Given the description of an element on the screen output the (x, y) to click on. 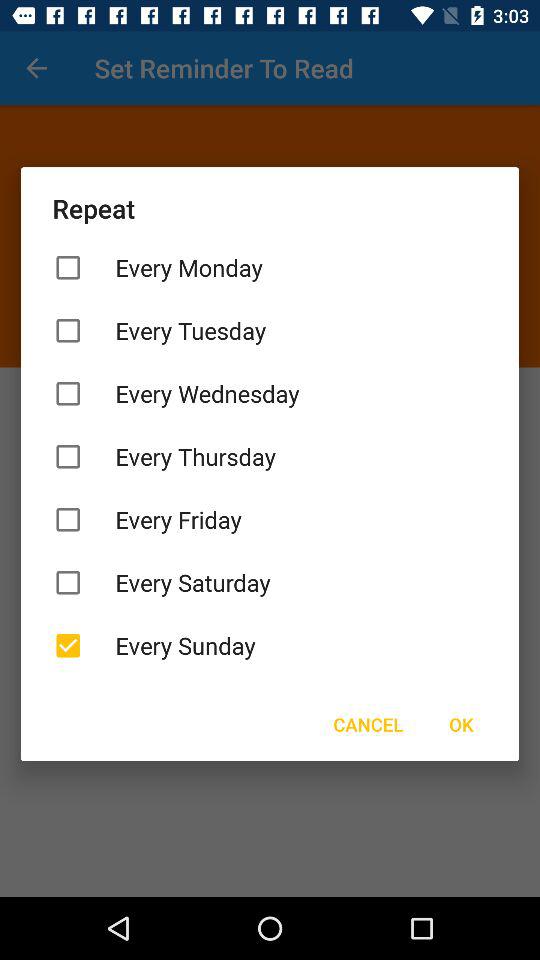
tap item below repeat icon (270, 267)
